Given the description of an element on the screen output the (x, y) to click on. 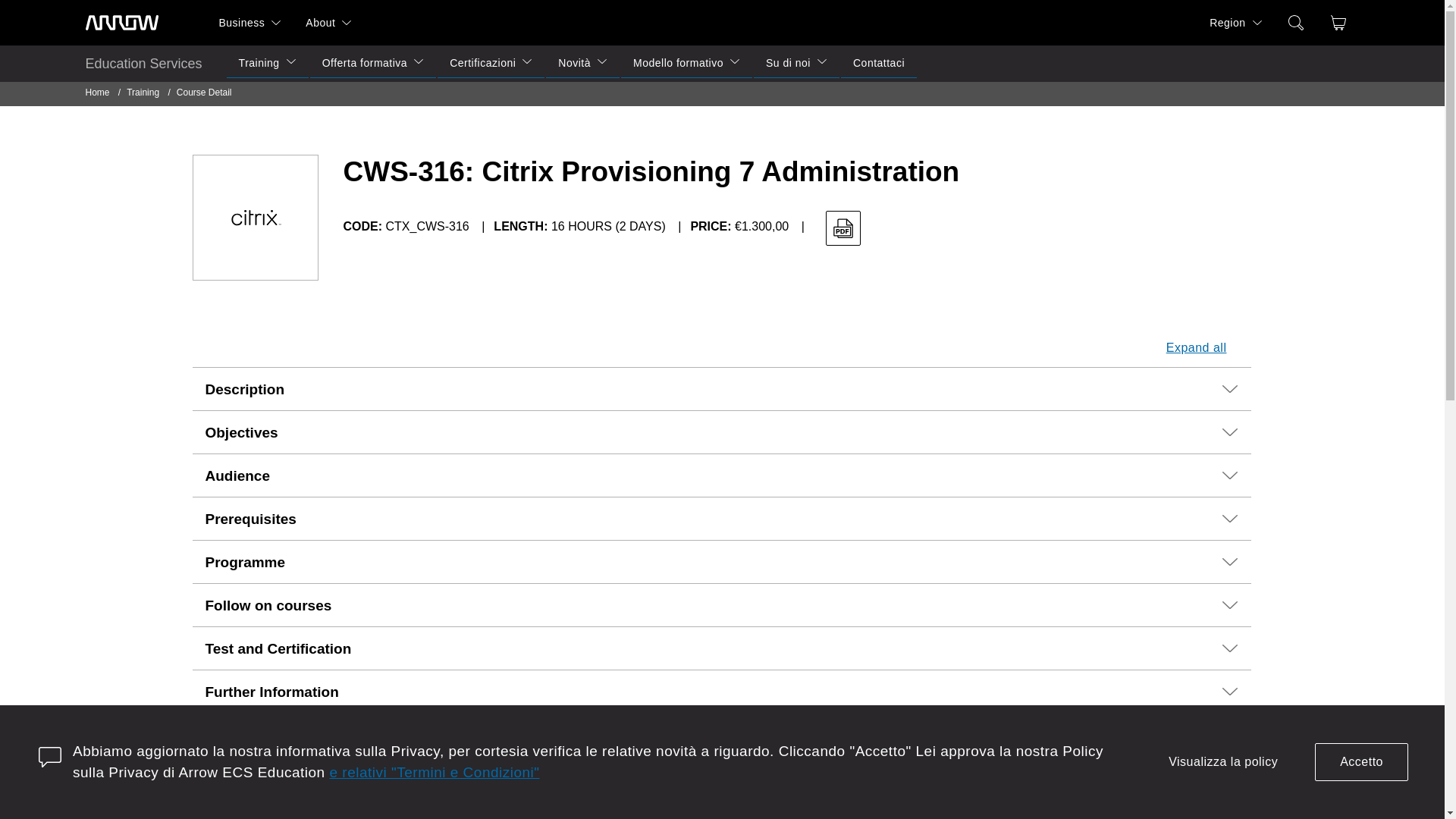
Region (1220, 22)
Download PDF (842, 227)
Business (235, 22)
About (314, 22)
